Given the description of an element on the screen output the (x, y) to click on. 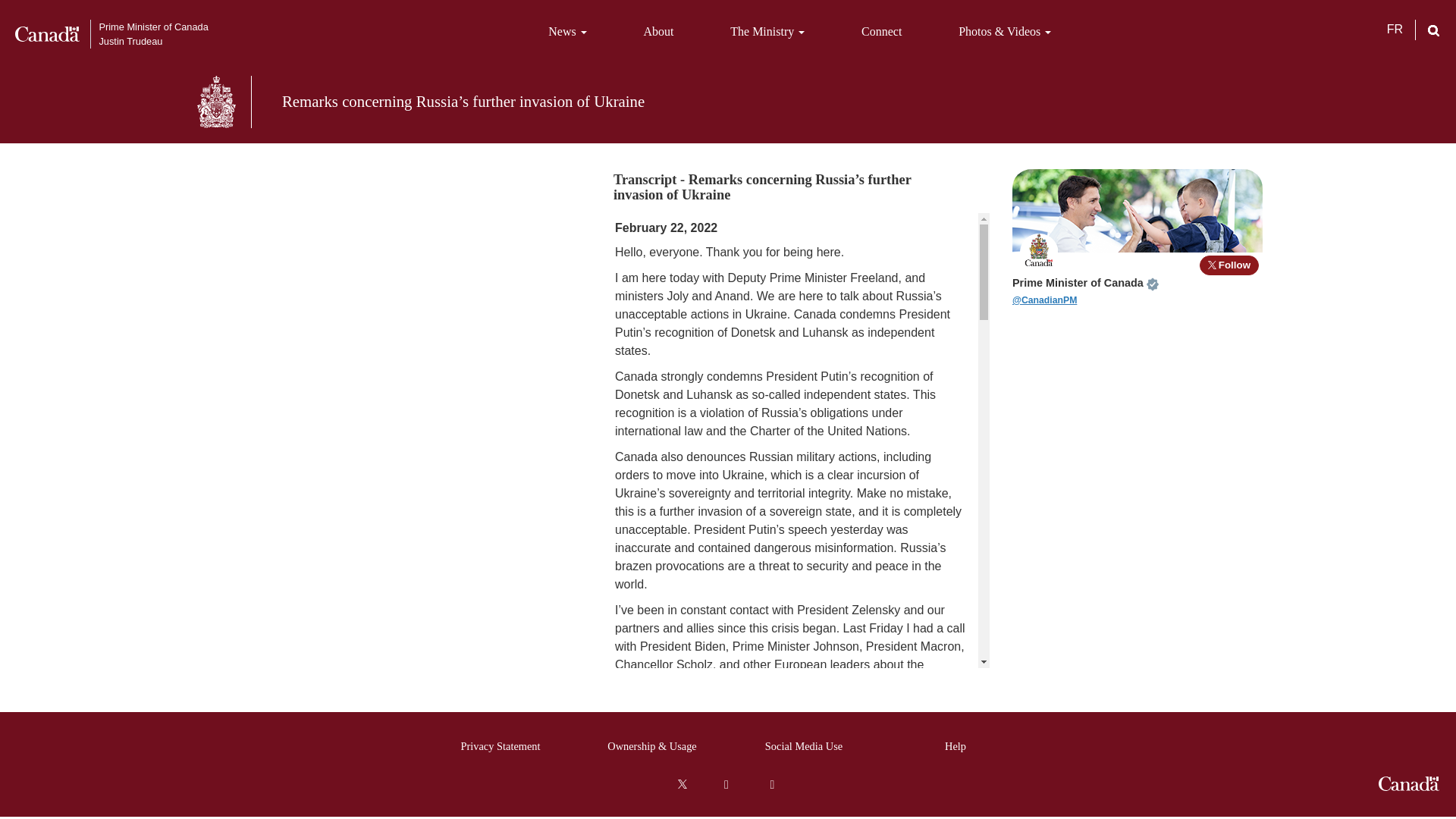
About (657, 31)
The Ministry (767, 31)
Twitter (682, 783)
Subscribe (771, 784)
News (567, 31)
YouTube (726, 784)
Government of Canada (1408, 783)
Connect (880, 31)
Video Player (386, 263)
